Given the description of an element on the screen output the (x, y) to click on. 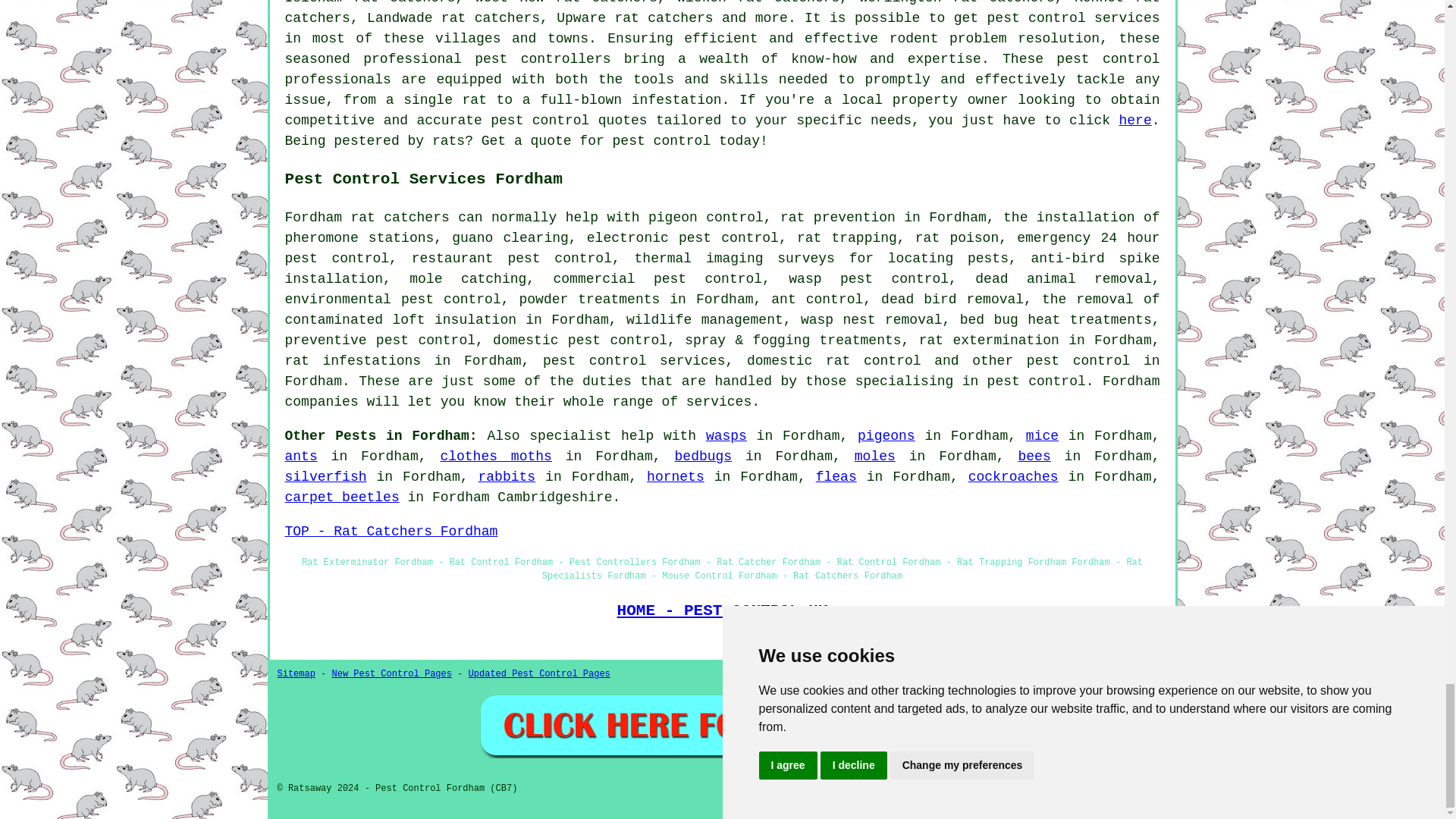
pest control quotes (568, 120)
pest control services (1073, 17)
pest control (1107, 58)
rat catchers (399, 217)
